Given the description of an element on the screen output the (x, y) to click on. 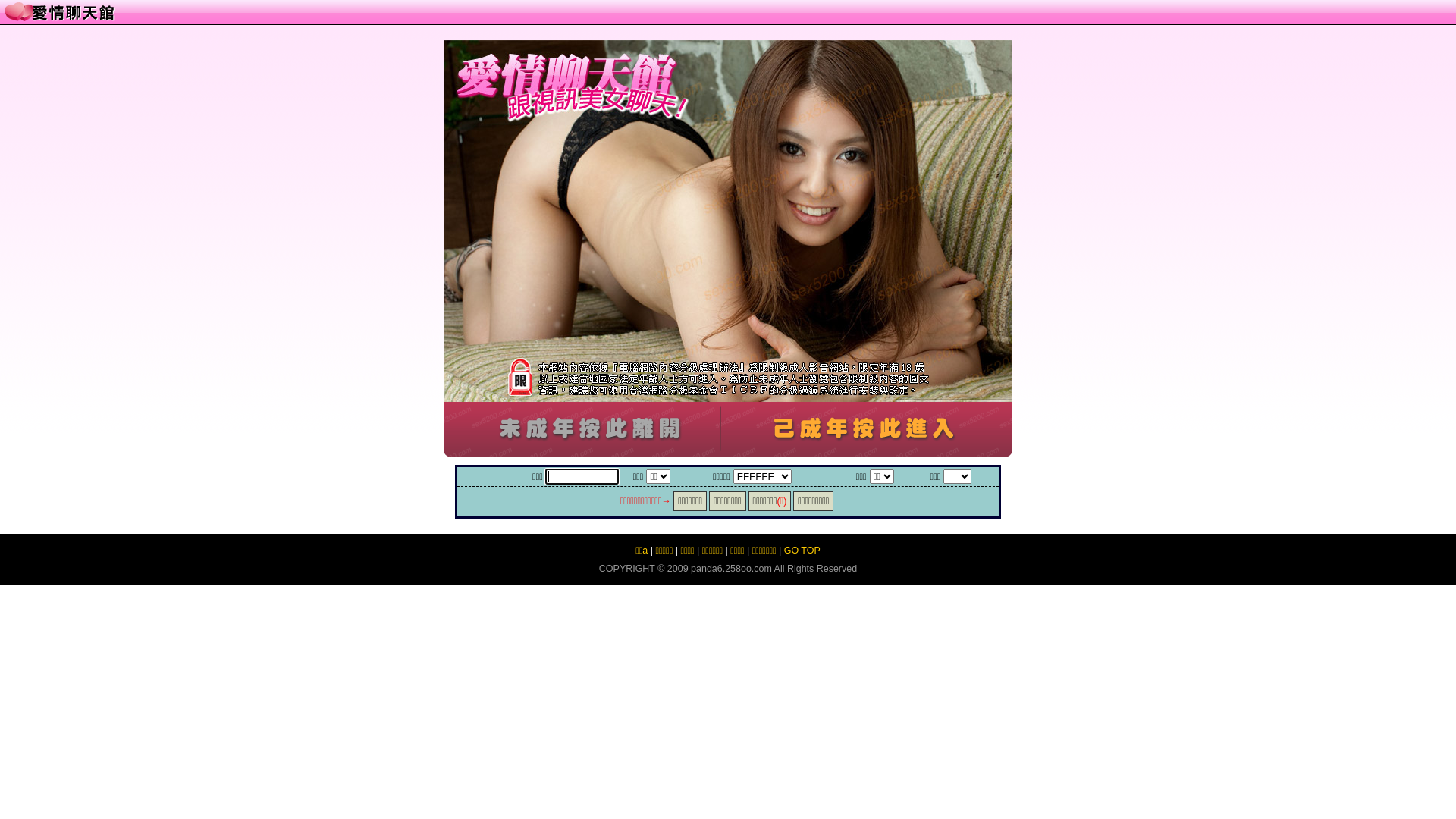
panda6.258oo.com Element type: text (730, 568)
GO TOP Element type: text (802, 550)
